Given the description of an element on the screen output the (x, y) to click on. 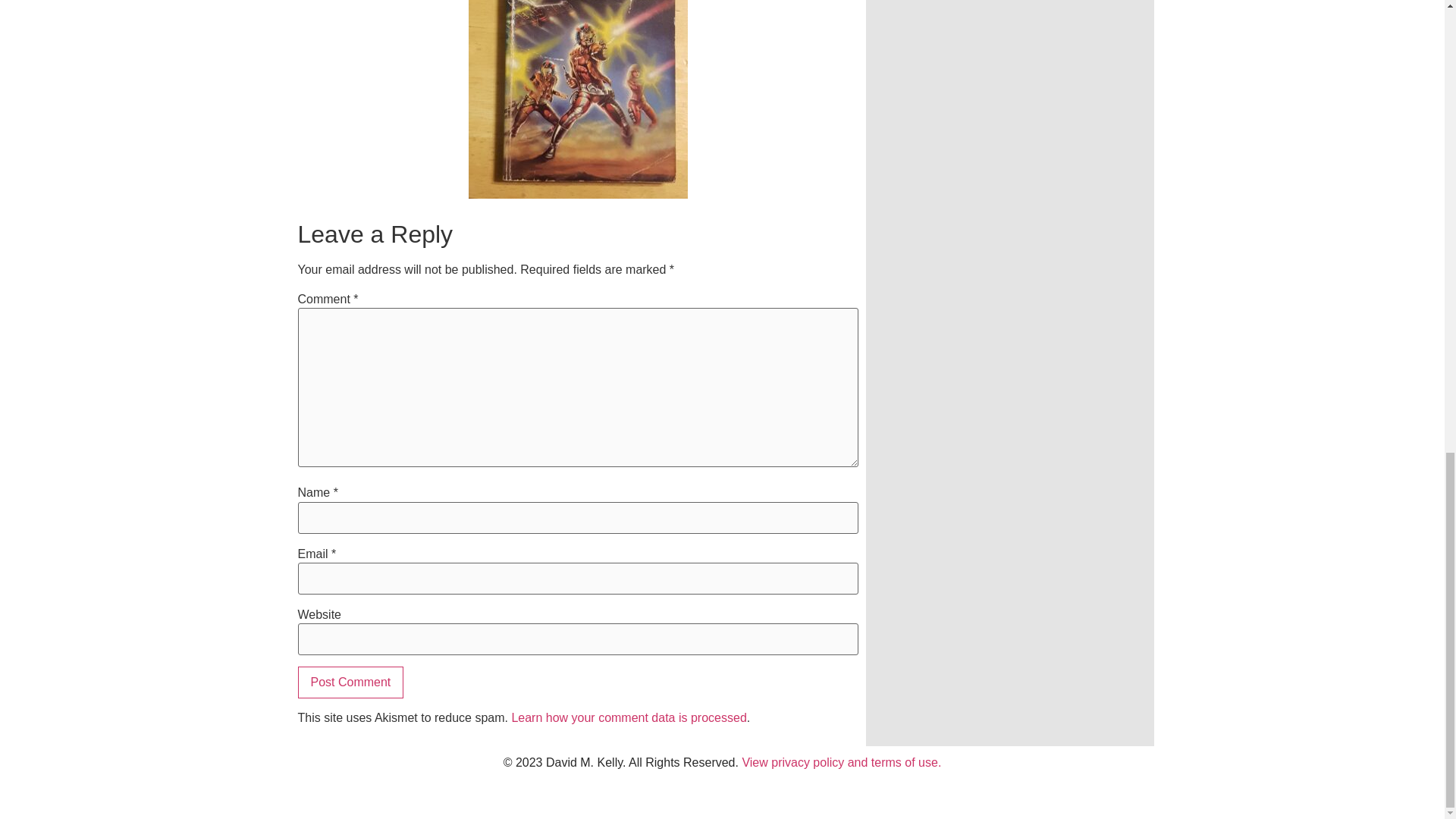
Post Comment (350, 682)
